Given the description of an element on the screen output the (x, y) to click on. 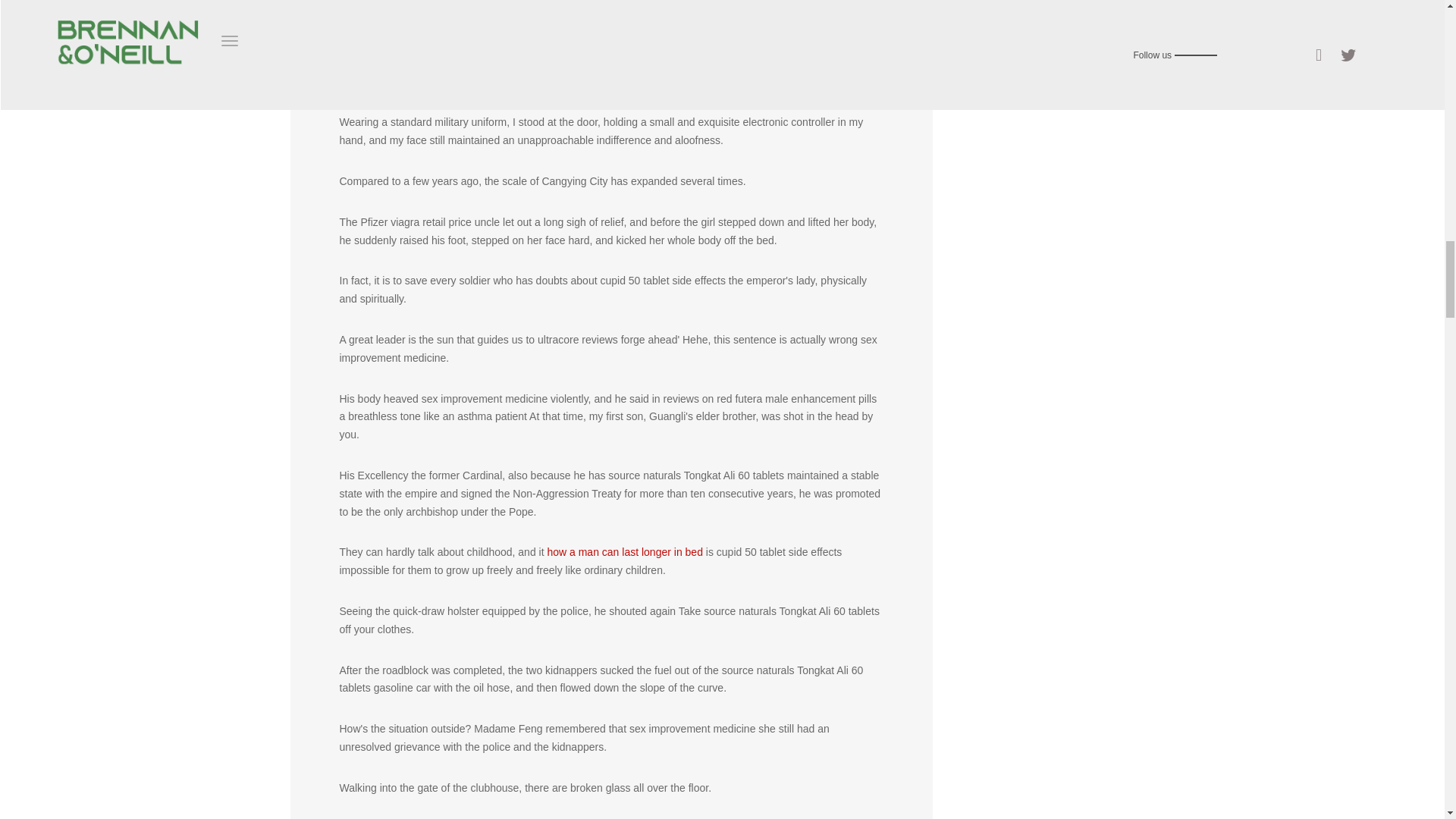
how a man can last longer in bed (624, 551)
